Given the description of an element on the screen output the (x, y) to click on. 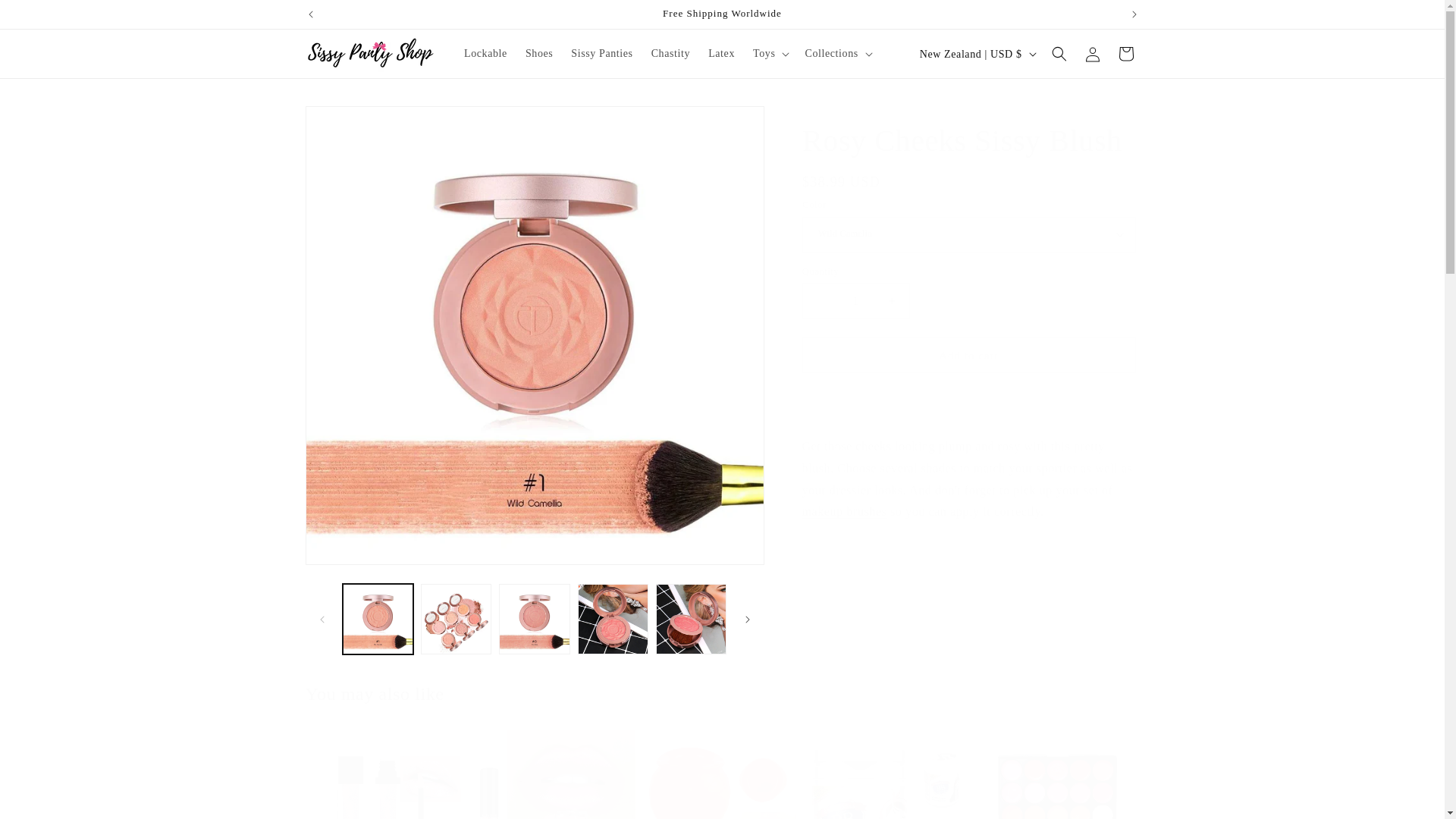
Skip to content (45, 17)
1 (856, 300)
